Given the description of an element on the screen output the (x, y) to click on. 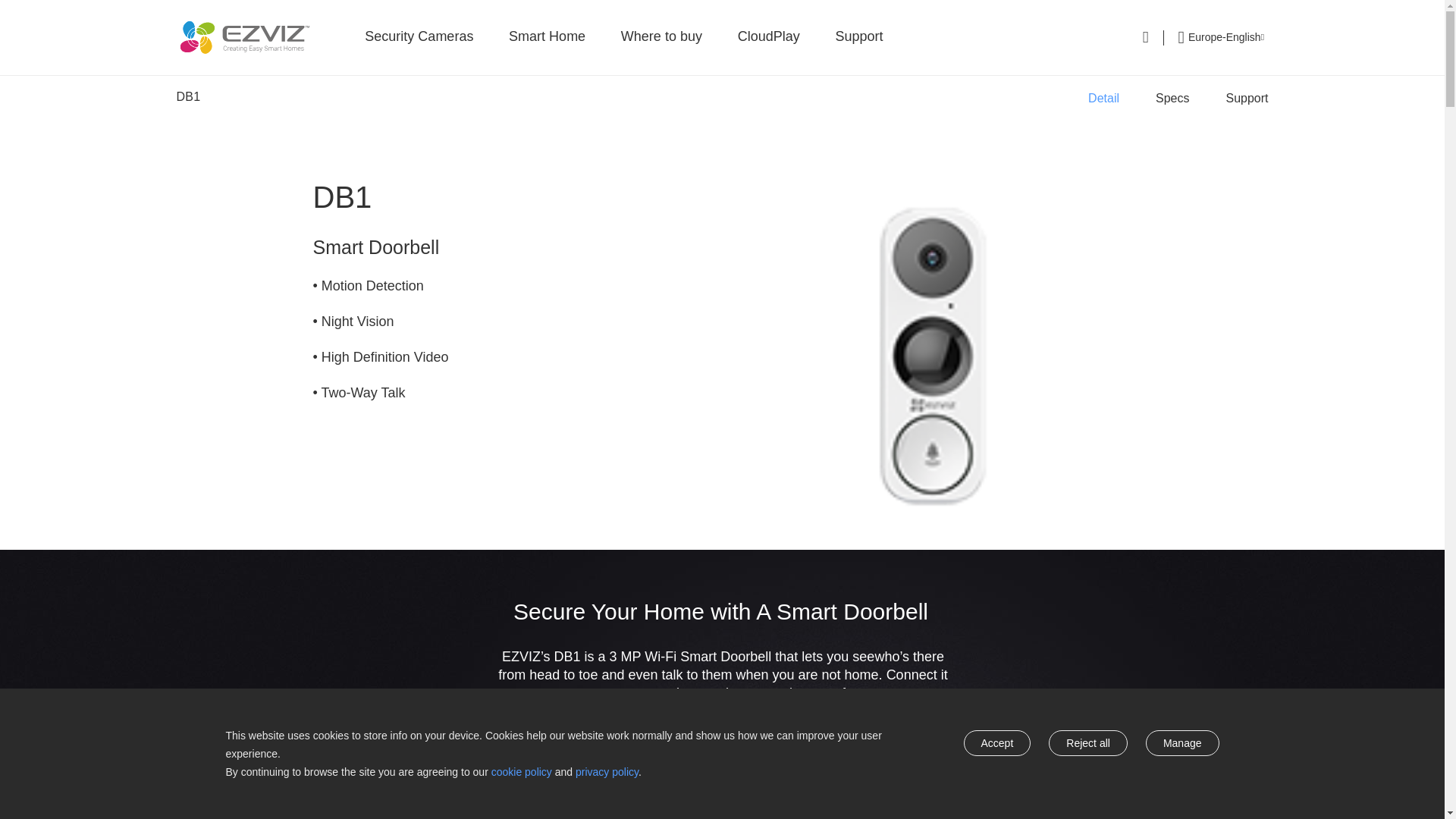
CloudPlay (769, 37)
Smart Home (546, 37)
DB1 (188, 96)
Europe-English (1220, 36)
Where to buy (660, 37)
Security Cameras (418, 37)
Support (1246, 97)
